Given the description of an element on the screen output the (x, y) to click on. 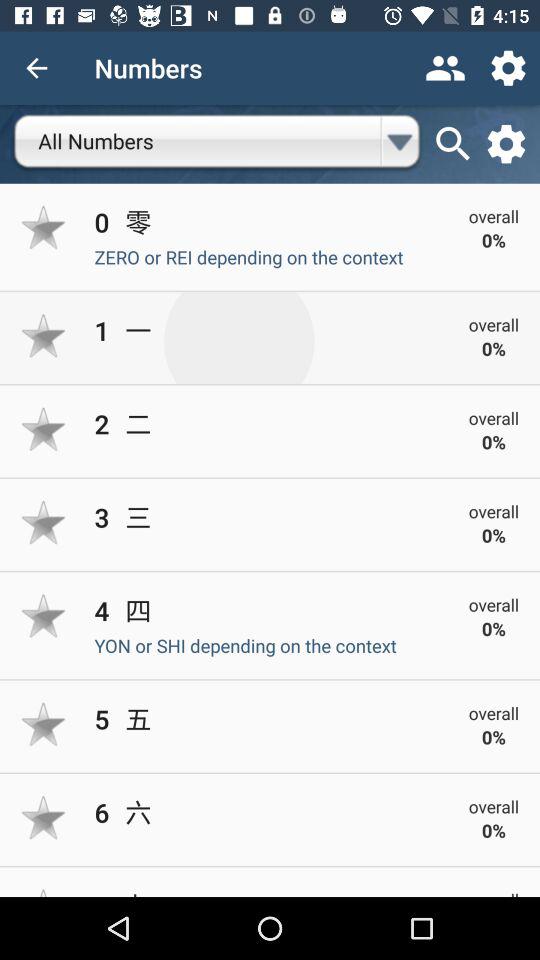
select the star icon in front of numeric 4 (43, 616)
